Given the description of an element on the screen output the (x, y) to click on. 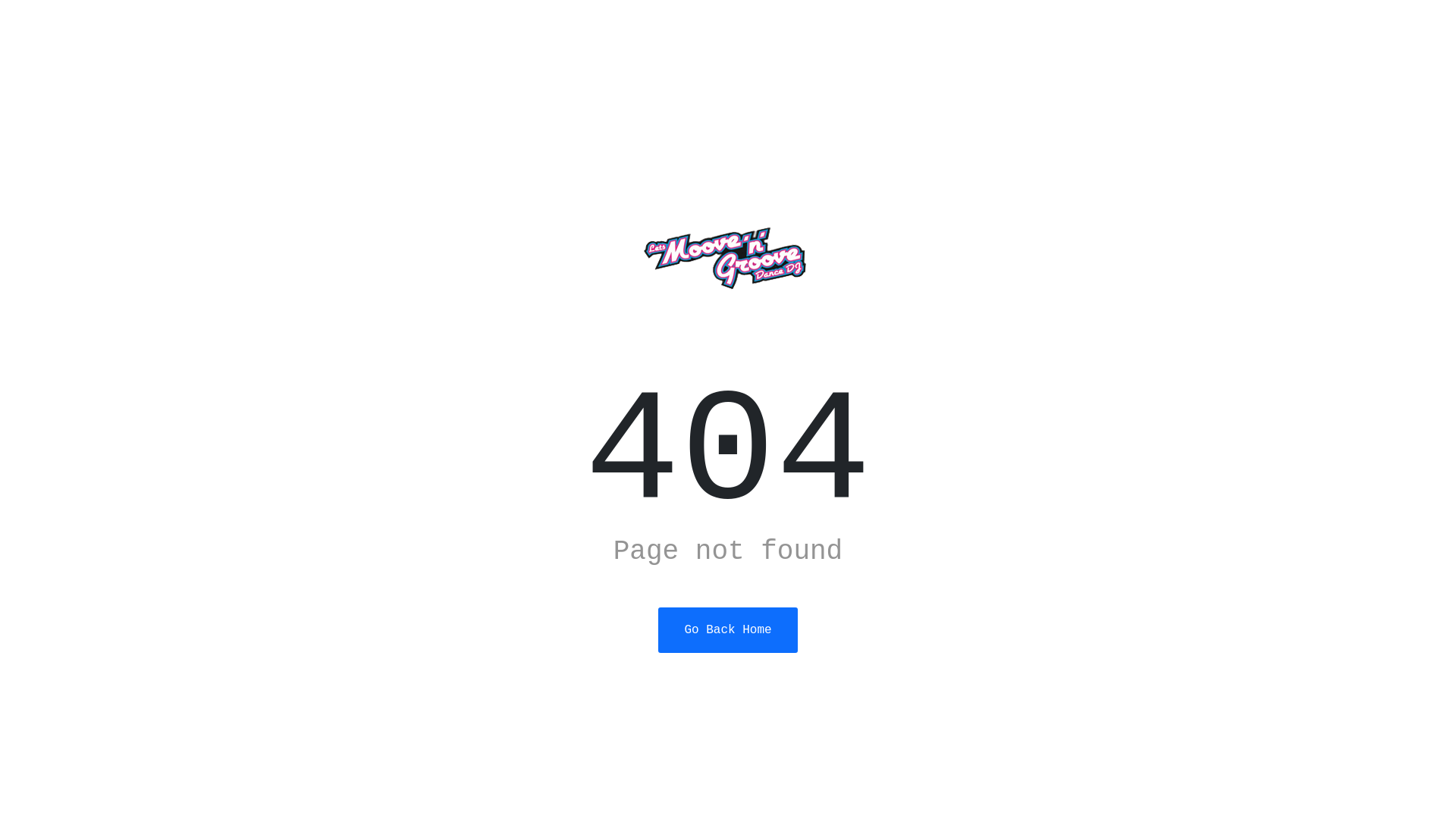
Go Back Home Element type: text (727, 629)
